Given the description of an element on the screen output the (x, y) to click on. 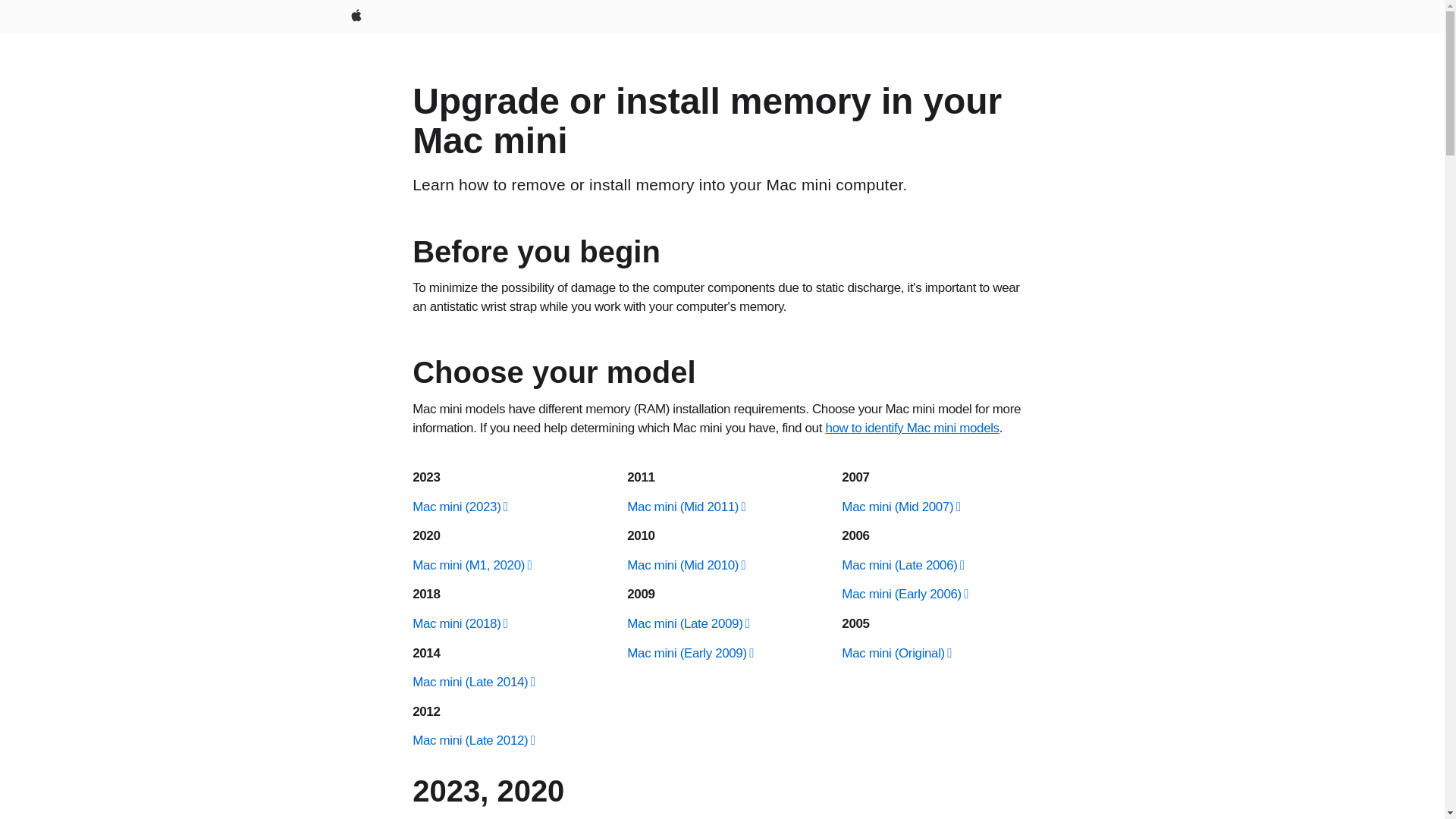
how to identify Mac mini models (911, 427)
Apple (354, 16)
